Given the description of an element on the screen output the (x, y) to click on. 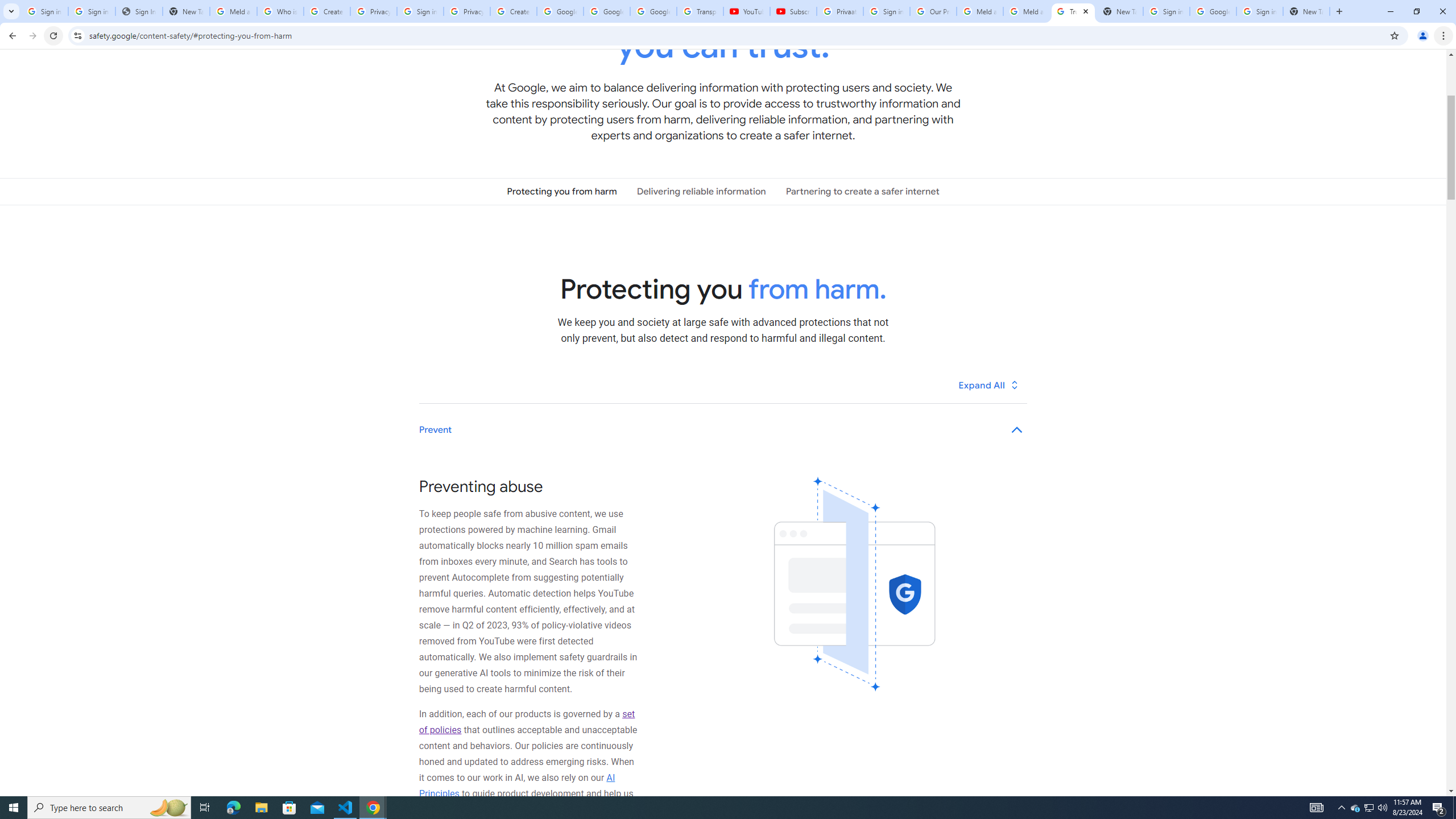
Create your Google Account (326, 11)
Sign in - Google Accounts (44, 11)
Google Cybersecurity Innovations - Google Safety Center (1213, 11)
YouTube (745, 11)
Delivering reliable information (700, 191)
